Given the description of an element on the screen output the (x, y) to click on. 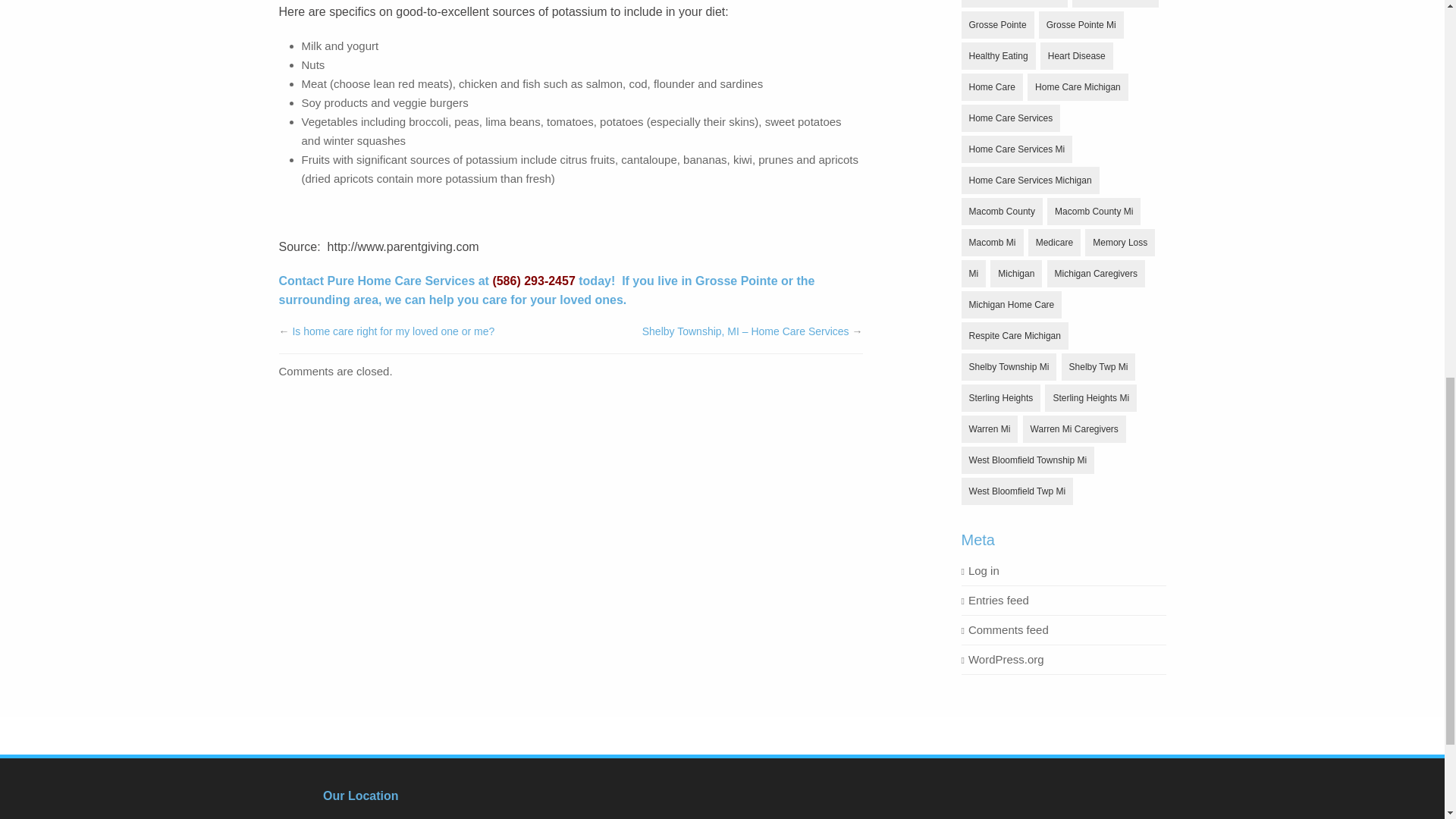
Franklin Mi Caregivers (1013, 3)
Is home care right for my loved one or me? (393, 331)
Franklin Michigan (1114, 3)
